Given the description of an element on the screen output the (x, y) to click on. 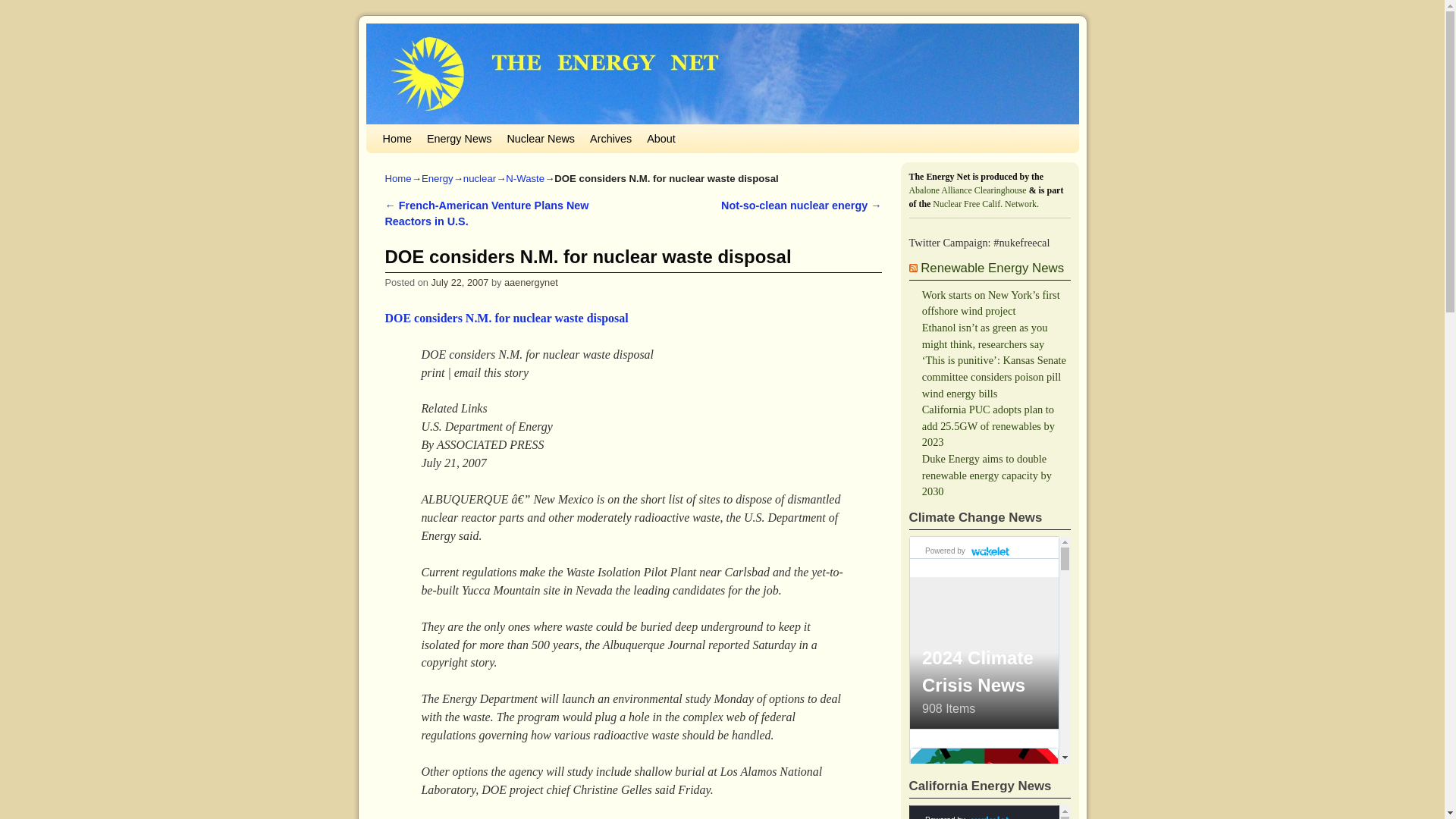
Energy News (459, 138)
View all posts by aaenergynet (530, 282)
Skip to primary content (411, 131)
9:55 AM (458, 282)
Nuclear News (540, 138)
Skip to secondary content (415, 131)
Archives (610, 138)
Home (396, 138)
